Given the description of an element on the screen output the (x, y) to click on. 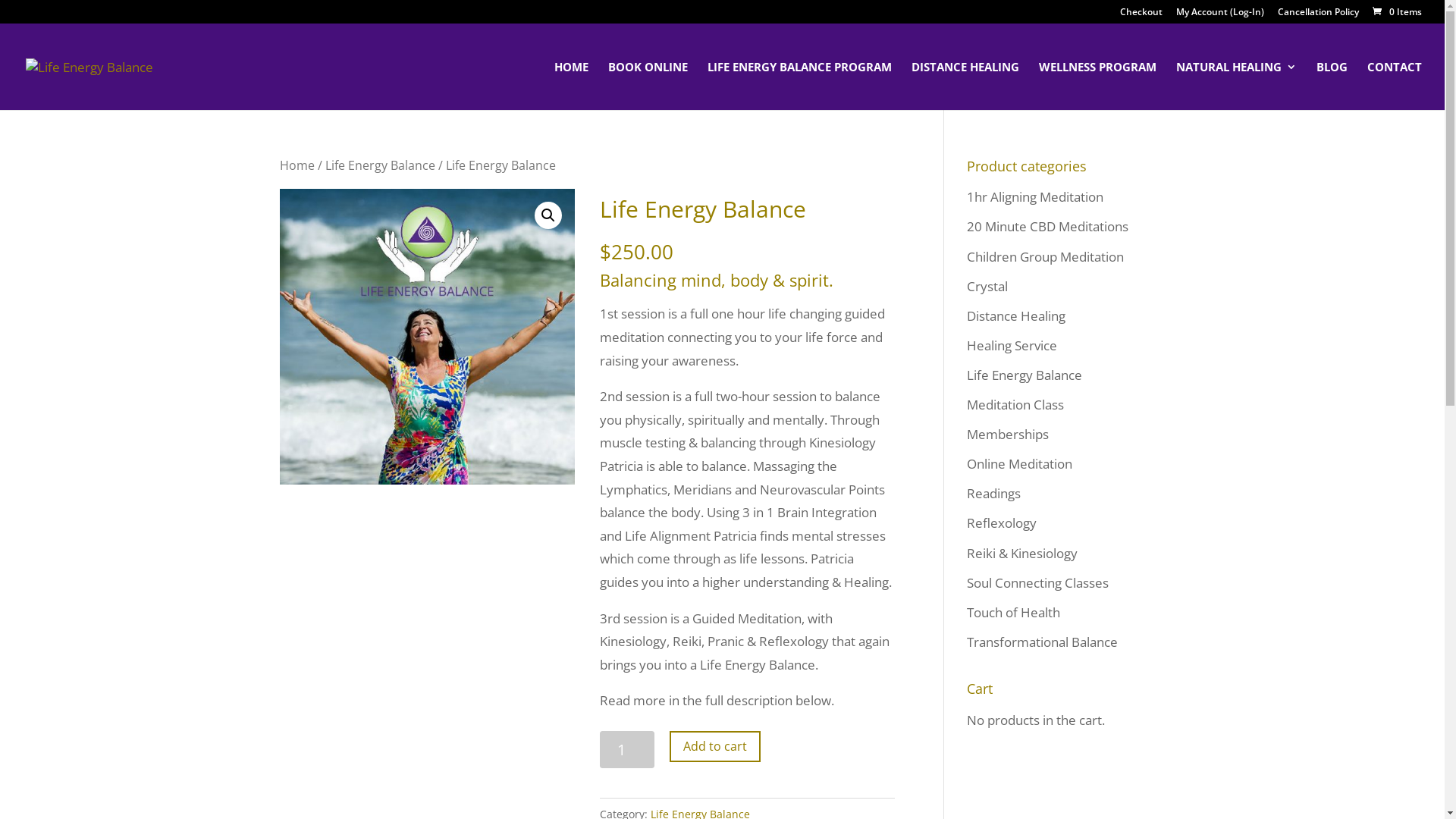
Online Meditation Element type: text (1018, 463)
Memberships Element type: text (1007, 433)
0 Items Element type: text (1395, 11)
Transformational Balance Element type: text (1041, 641)
CONTACT Element type: text (1394, 85)
Reflexology Element type: text (1000, 522)
Children Group Meditation Element type: text (1044, 256)
NATURAL HEALING Element type: text (1236, 85)
Meditation Class Element type: text (1014, 404)
Add to cart Element type: text (714, 746)
Cancellation Policy Element type: text (1317, 15)
20 Minute CBD Meditations Element type: text (1046, 226)
Qty Element type: hover (627, 749)
My Account (Log-In) Element type: text (1220, 15)
Life-Energy-Balance Element type: hover (426, 336)
1hr Aligning Meditation Element type: text (1034, 196)
Touch of Health Element type: text (1012, 612)
Life Energy Balance Element type: text (1023, 374)
Life Energy Balance Element type: text (379, 164)
Distance Healing Element type: text (1015, 315)
Readings Element type: text (992, 493)
Reiki & Kinesiology Element type: text (1021, 552)
Healing Service Element type: text (1011, 345)
Checkout Element type: text (1141, 15)
BLOG Element type: text (1331, 85)
LIFE ENERGY BALANCE PROGRAM Element type: text (799, 85)
Soul Connecting Classes Element type: text (1036, 582)
WELLNESS PROGRAM Element type: text (1097, 85)
HOME Element type: text (571, 85)
BOOK ONLINE Element type: text (647, 85)
Home Element type: text (296, 164)
Crystal Element type: text (986, 285)
DISTANCE HEALING Element type: text (965, 85)
